Given the description of an element on the screen output the (x, y) to click on. 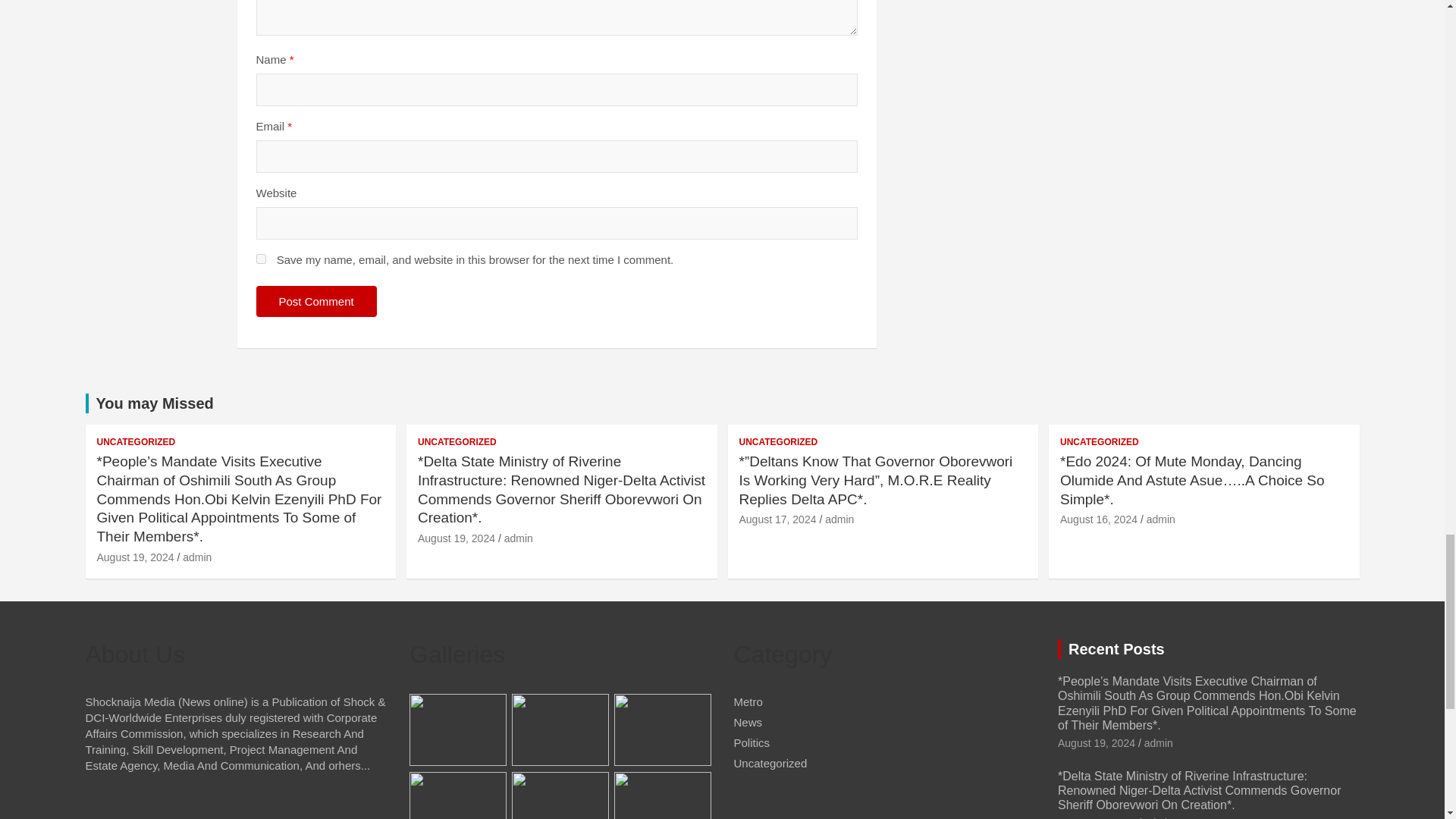
Post Comment (316, 300)
Post Comment (316, 300)
yes (261, 258)
